Given the description of an element on the screen output the (x, y) to click on. 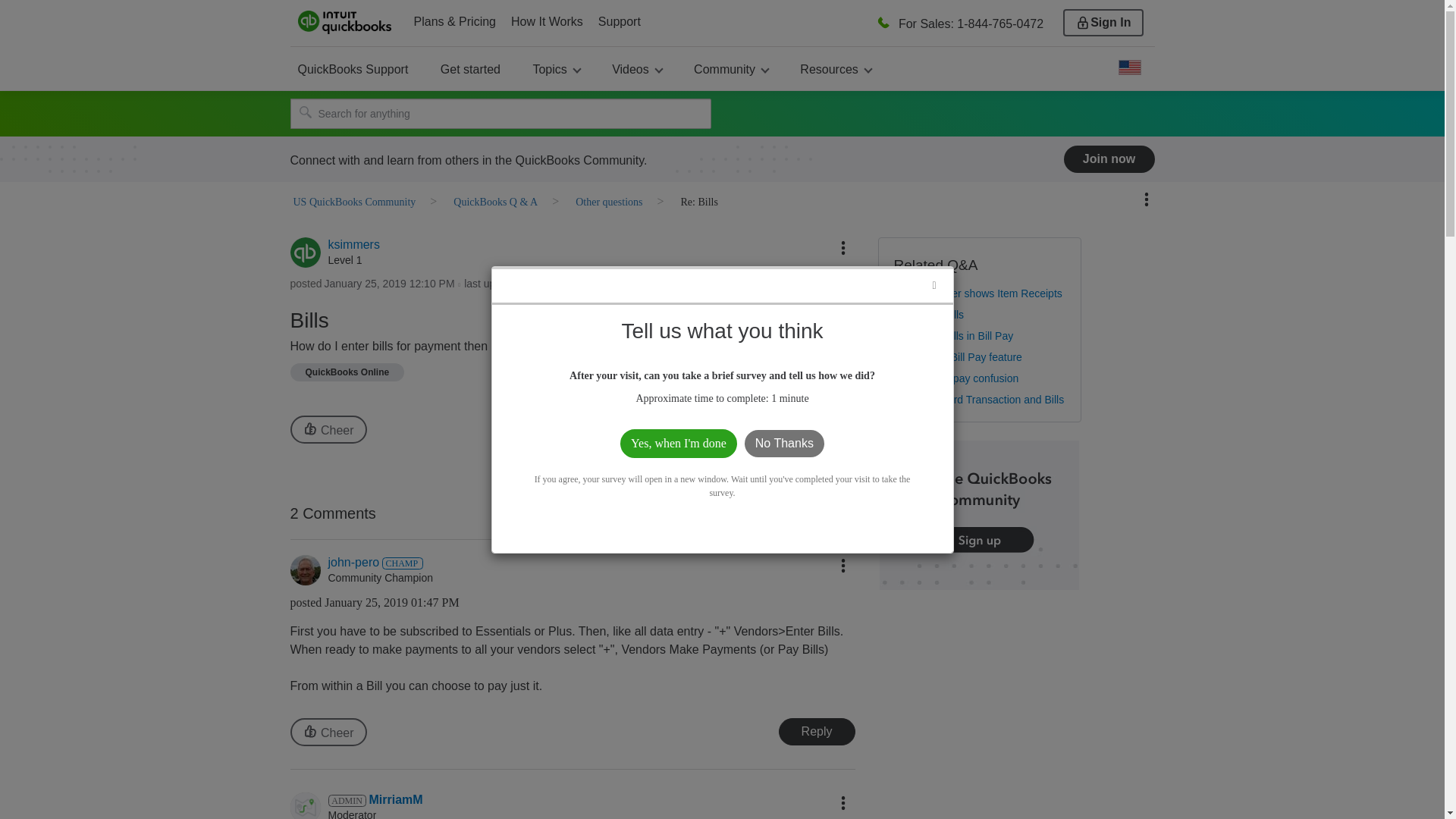
Show option menu (843, 565)
Community Champion (402, 563)
Search (304, 112)
john-pero (304, 570)
Show option menu (843, 248)
Search (499, 113)
MirriamM (304, 805)
Moderator (346, 800)
The total number of cheers this post has received (328, 429)
Posted on (501, 602)
ksimmers (304, 252)
Search (304, 112)
The total number of cheers this post has received (328, 731)
Show option menu (1146, 198)
Posted on (389, 283)
